Given the description of an element on the screen output the (x, y) to click on. 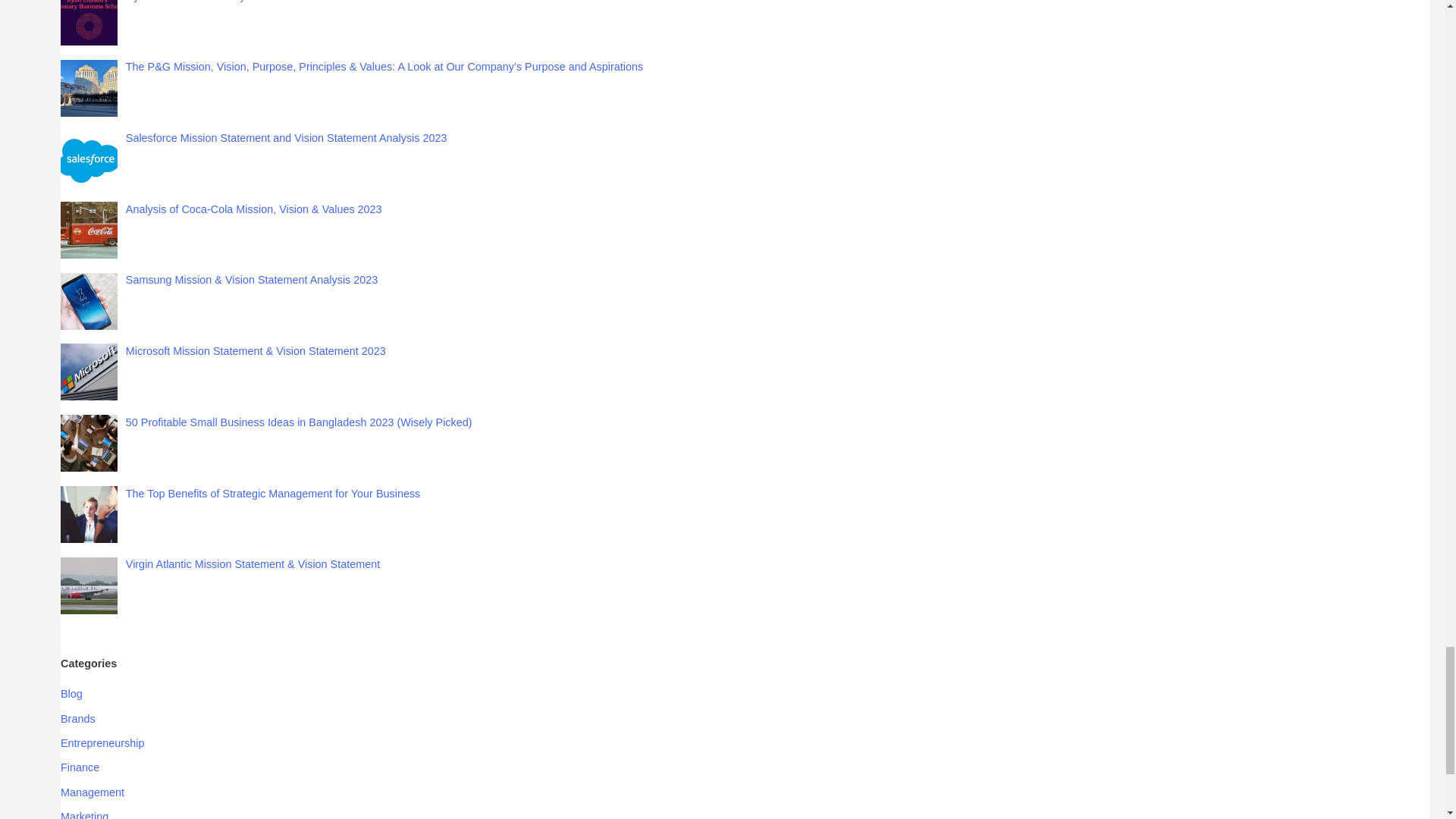
The Top Benefits of Strategic Management for Your Business (272, 493)
Virgin Atlantic Mission Statement (89, 585)
Entrepreneurship (102, 743)
Brands (78, 718)
benefits of strategic management (89, 514)
Samsung mission statement (89, 301)
business ideas in bangladesh (89, 442)
SalesForce Mission statement (89, 158)
coca cola mission statement (89, 229)
PG Mission Vision Purpose Principle Values (89, 88)
Microsoft mission statement (89, 371)
Blog (71, 693)
visionary business school (89, 22)
